Given the description of an element on the screen output the (x, y) to click on. 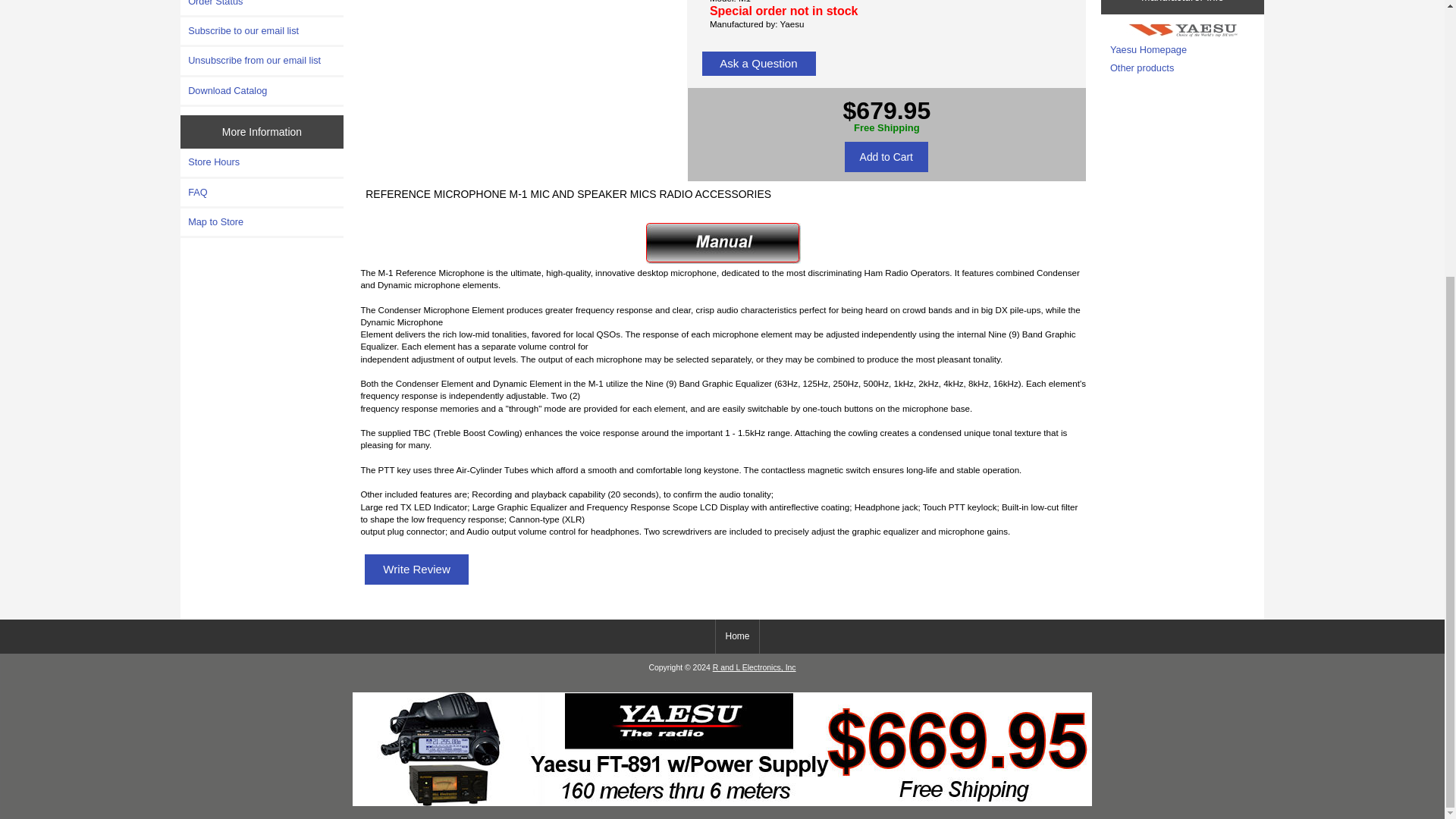
Subscribe to our email list (261, 31)
Order Status (261, 7)
Download Catalog (261, 90)
Unsubscribe from our email list (261, 60)
Map to Store (261, 221)
Add to Cart (886, 156)
FAQ (261, 192)
Store Hours (261, 162)
Yaesu (1182, 29)
FT891 and power supply (722, 748)
